Given the description of an element on the screen output the (x, y) to click on. 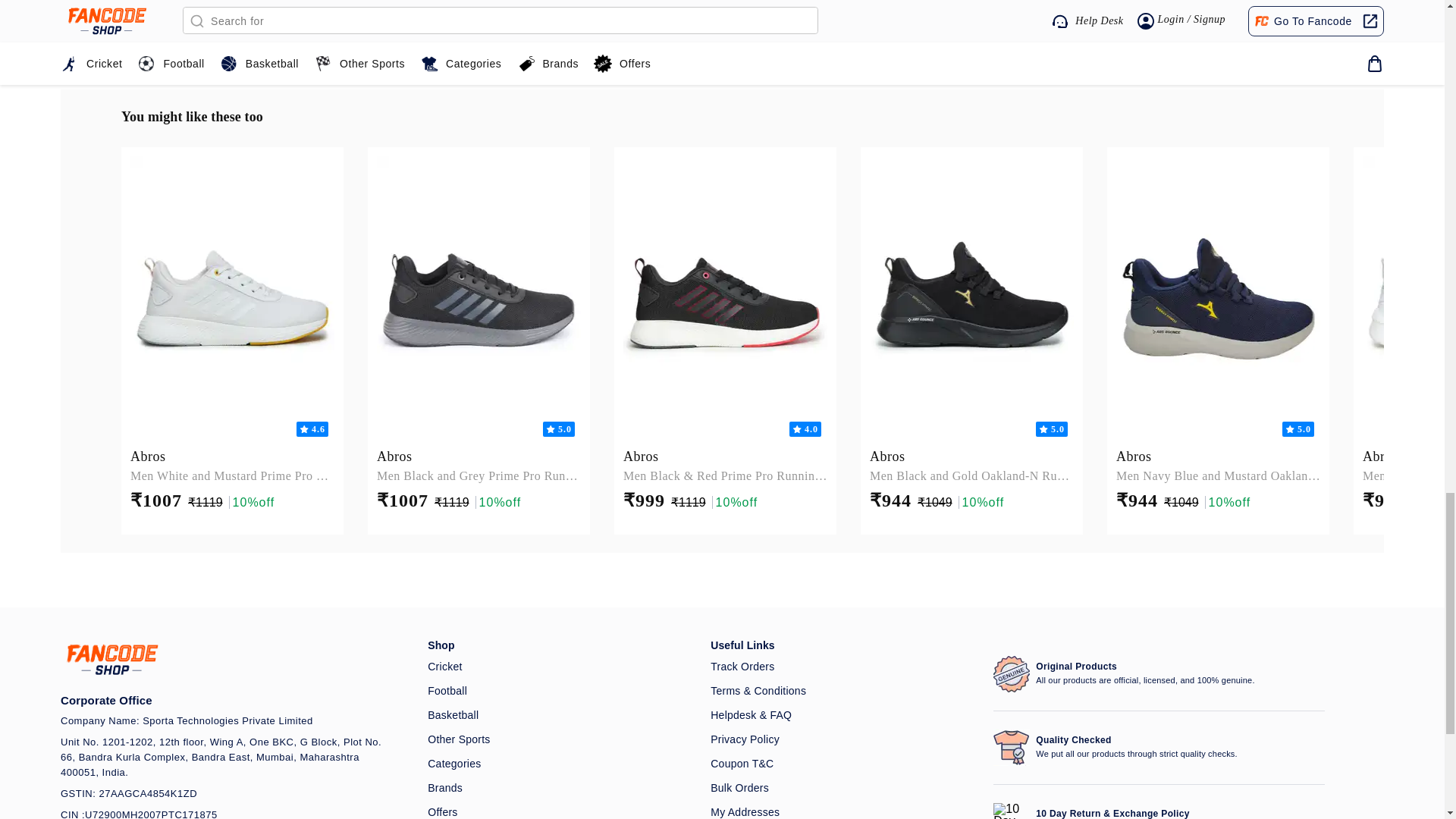
Cricket (560, 666)
My Addresses (842, 811)
Offers (560, 811)
Track Orders (842, 666)
Basketball (560, 714)
Football (560, 690)
Brands (560, 787)
Other Sports (560, 739)
Privacy Policy (842, 739)
Categories (560, 763)
Bulk Orders (842, 787)
